Given the description of an element on the screen output the (x, y) to click on. 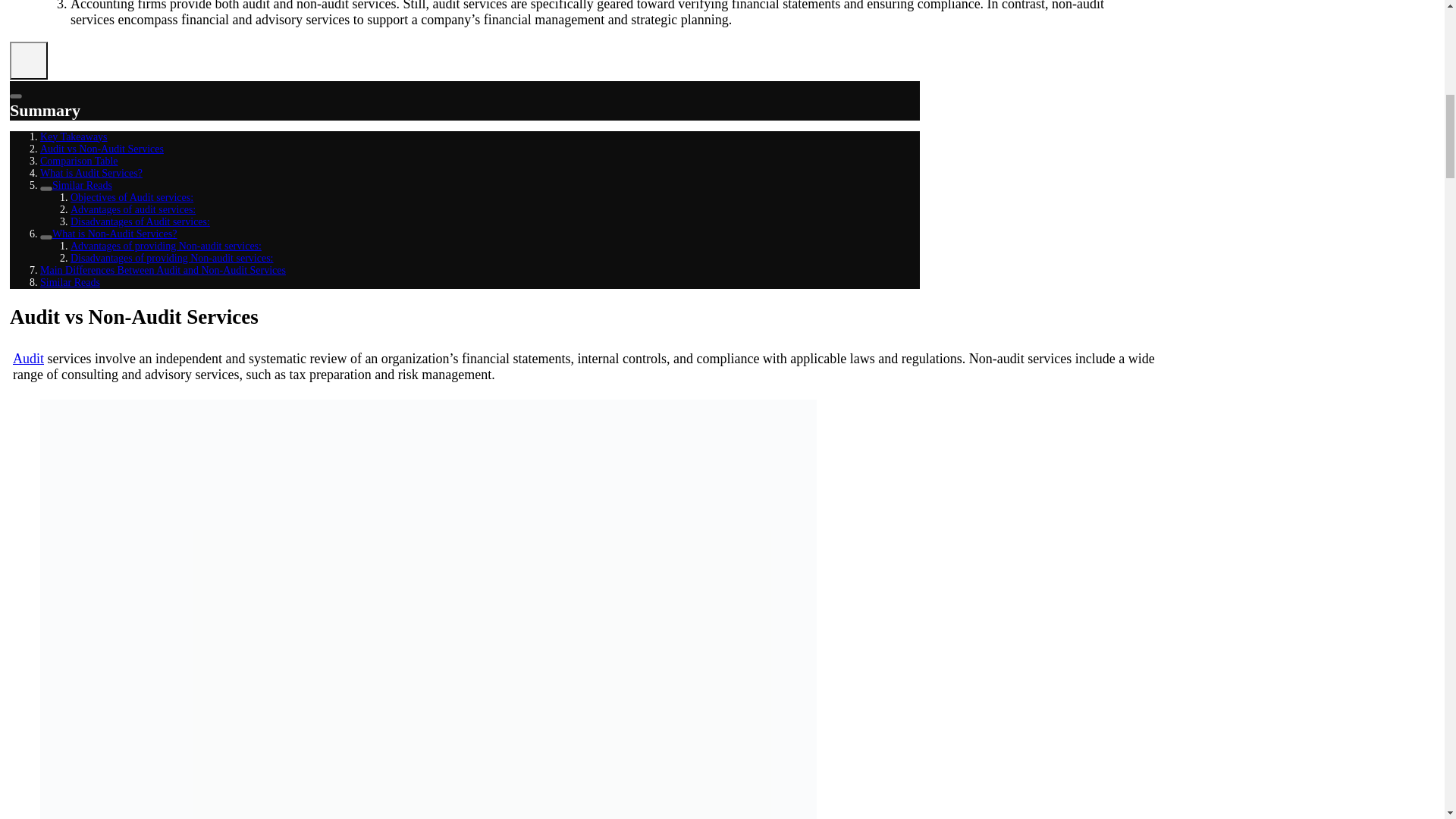
click To Maximize The Table Of Contents (29, 60)
Similar Reads (70, 282)
Key Takeaways (73, 136)
Disadvantages of providing Non-audit services: (171, 257)
Audit (28, 358)
Main Differences Between Audit and Non-Audit Services (162, 270)
Similar Reads (82, 184)
Disadvantages of Audit services: (139, 221)
Objectives of Audit services: (131, 197)
Audit (28, 358)
